Given the description of an element on the screen output the (x, y) to click on. 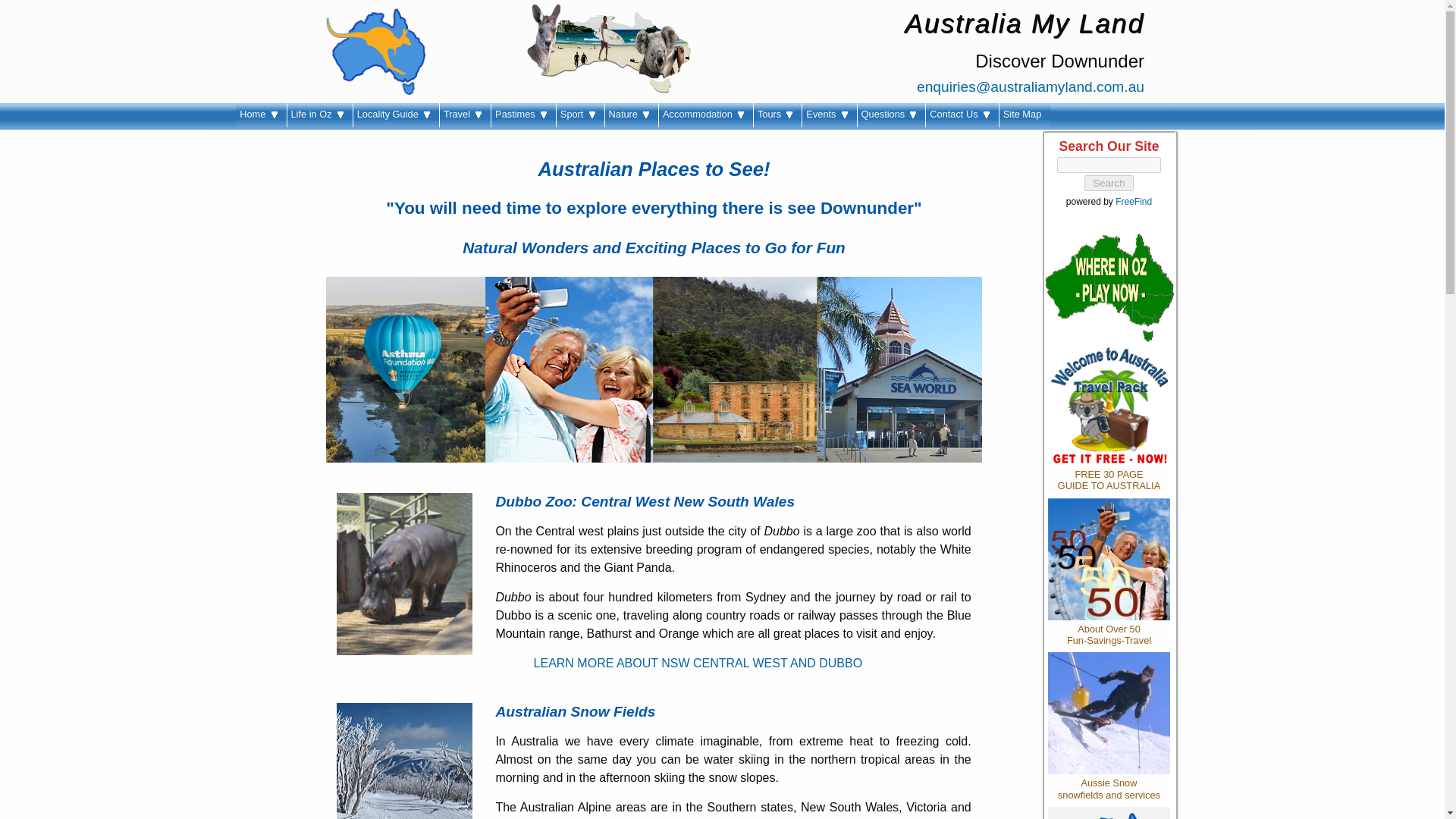
Discover Australia My Land Downunder (375, 51)
 Search  (1109, 182)
Locality Guide   (396, 115)
Life in Oz   (319, 115)
Life in Australia (319, 115)
Home   (260, 115)
Australia My Land Downunder (260, 115)
